Given the description of an element on the screen output the (x, y) to click on. 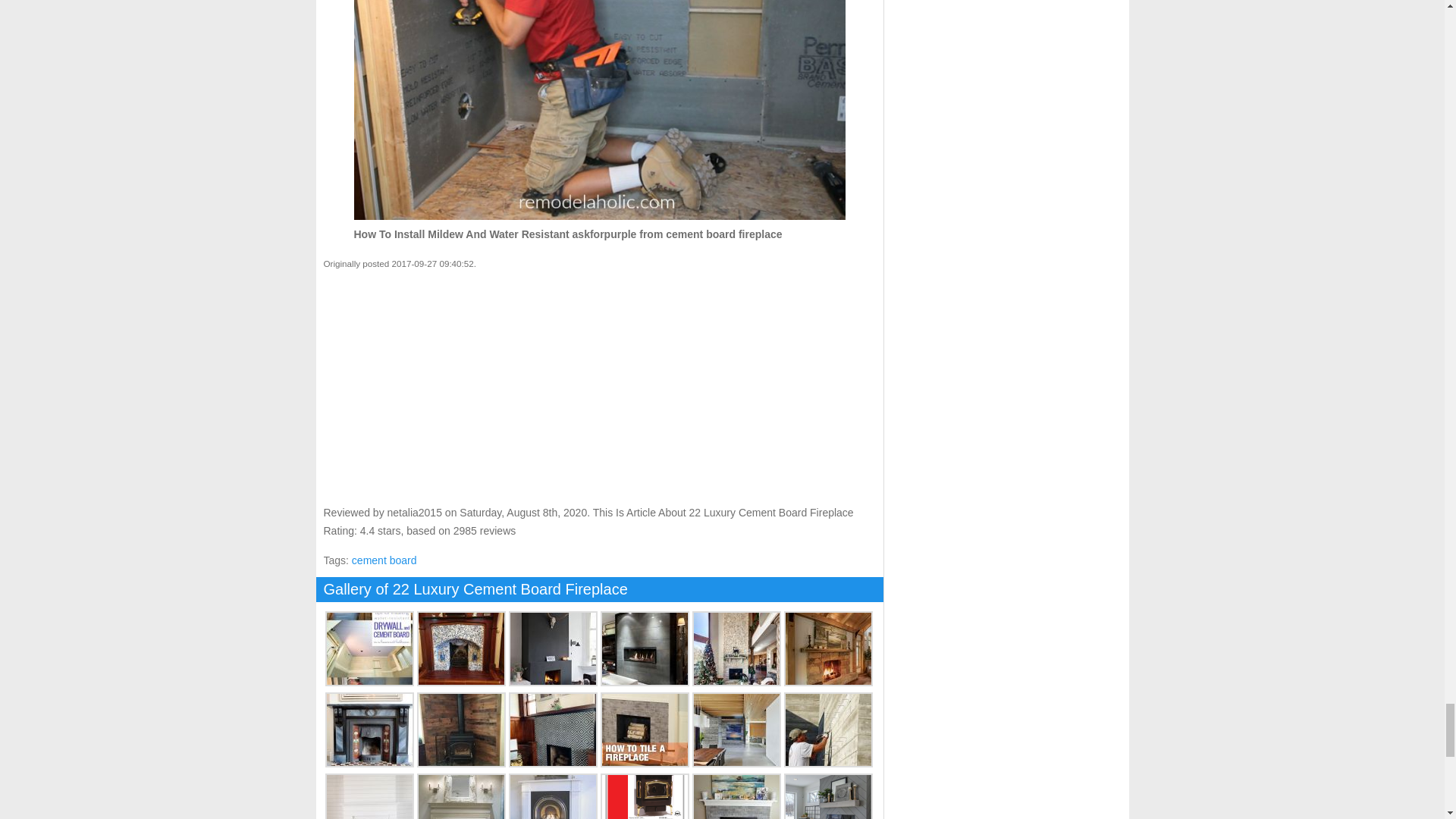
How To Install Mildew And Water Resistant askforpurple (598, 110)
cement board (384, 560)
